Given the description of an element on the screen output the (x, y) to click on. 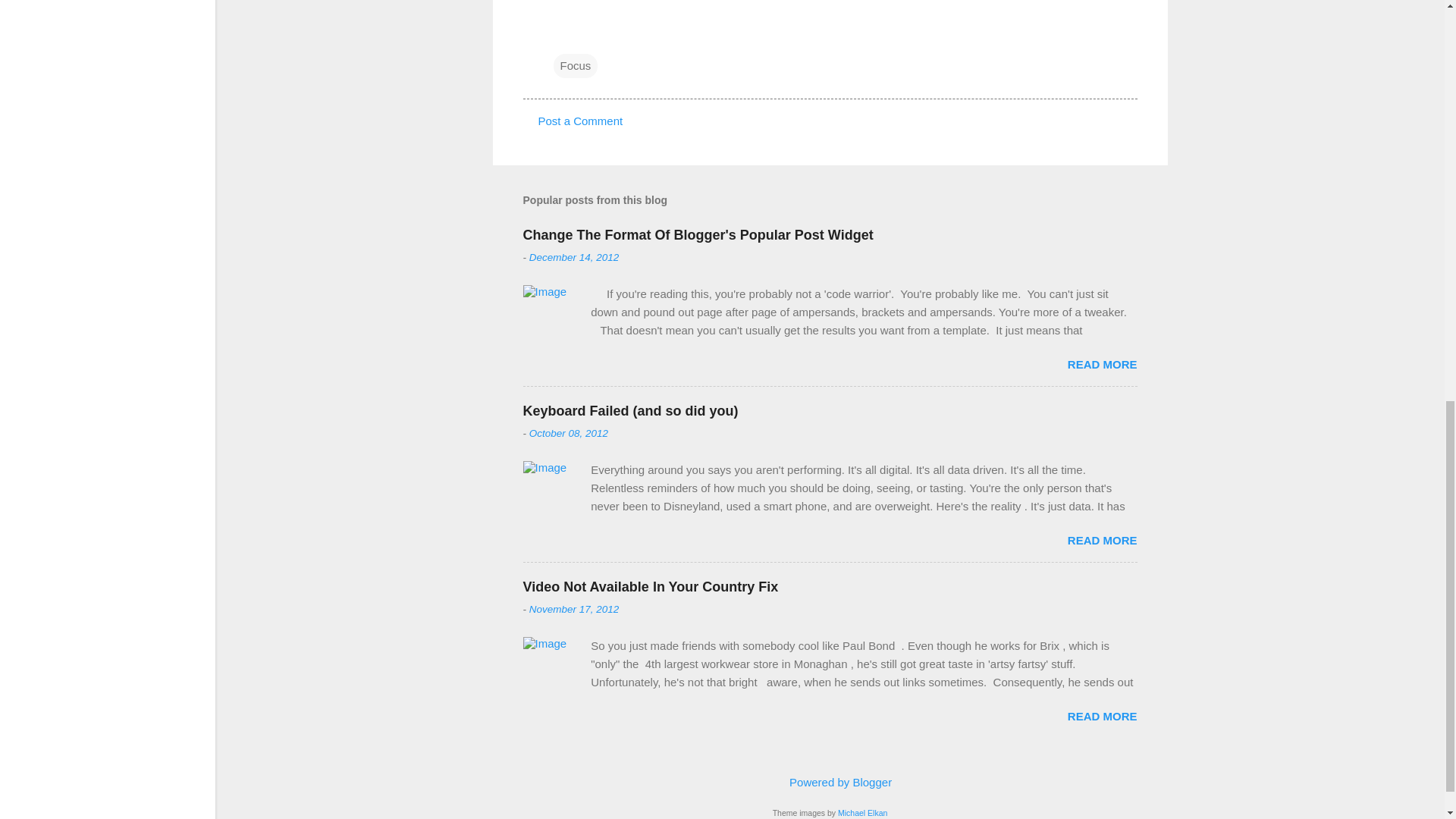
November 17, 2012 (574, 609)
Video Not Available In Your Country Fix (650, 586)
Change The Format Of Blogger's Popular Post Widget (697, 234)
December 14, 2012 (574, 256)
Post a Comment (580, 120)
Powered by Blogger (829, 781)
READ MORE (1102, 540)
READ MORE (1102, 364)
Michael Elkan (862, 812)
Focus (575, 64)
October 08, 2012 (568, 432)
READ MORE (1102, 716)
permanent link (574, 256)
